Given the description of an element on the screen output the (x, y) to click on. 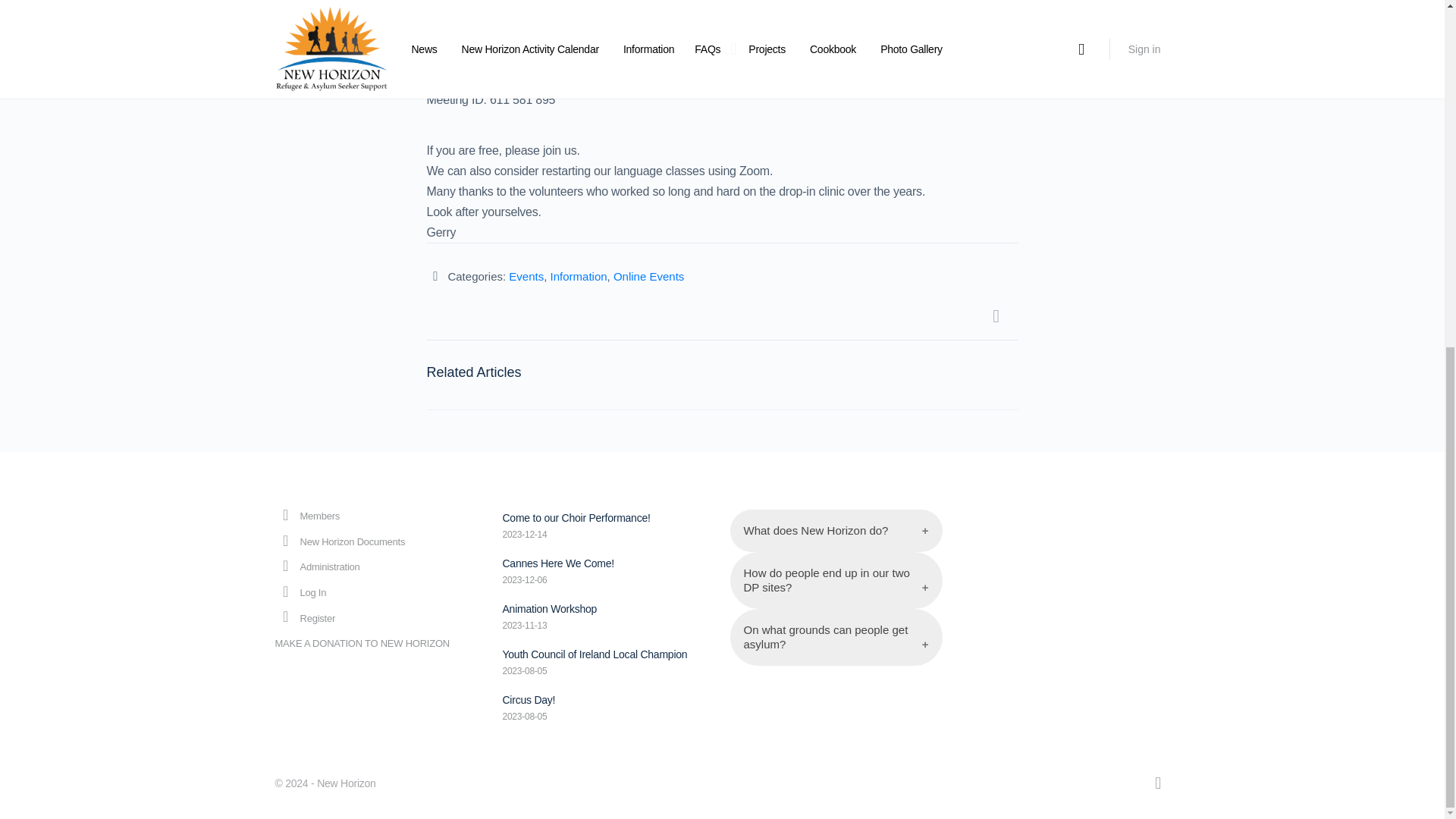
Information (578, 276)
Events (525, 276)
